Given the description of an element on the screen output the (x, y) to click on. 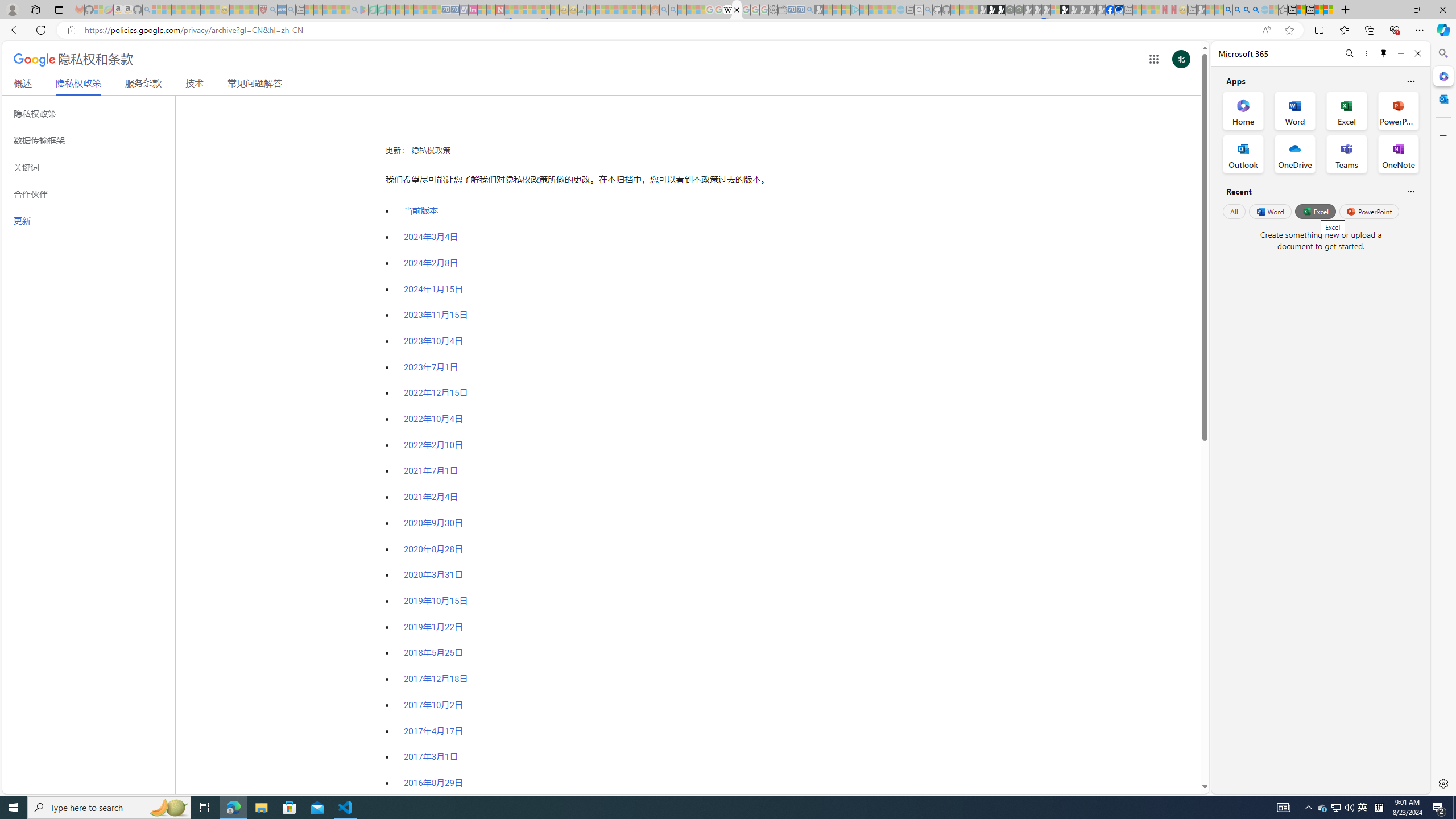
Robert H. Shmerling, MD - Harvard Health - Sleeping (263, 9)
Kinda Frugal - MSN - Sleeping (627, 9)
Wallet - Sleeping (782, 9)
Sign in to your account - Sleeping (1054, 9)
Excel Office App (1346, 110)
